Given the description of an element on the screen output the (x, y) to click on. 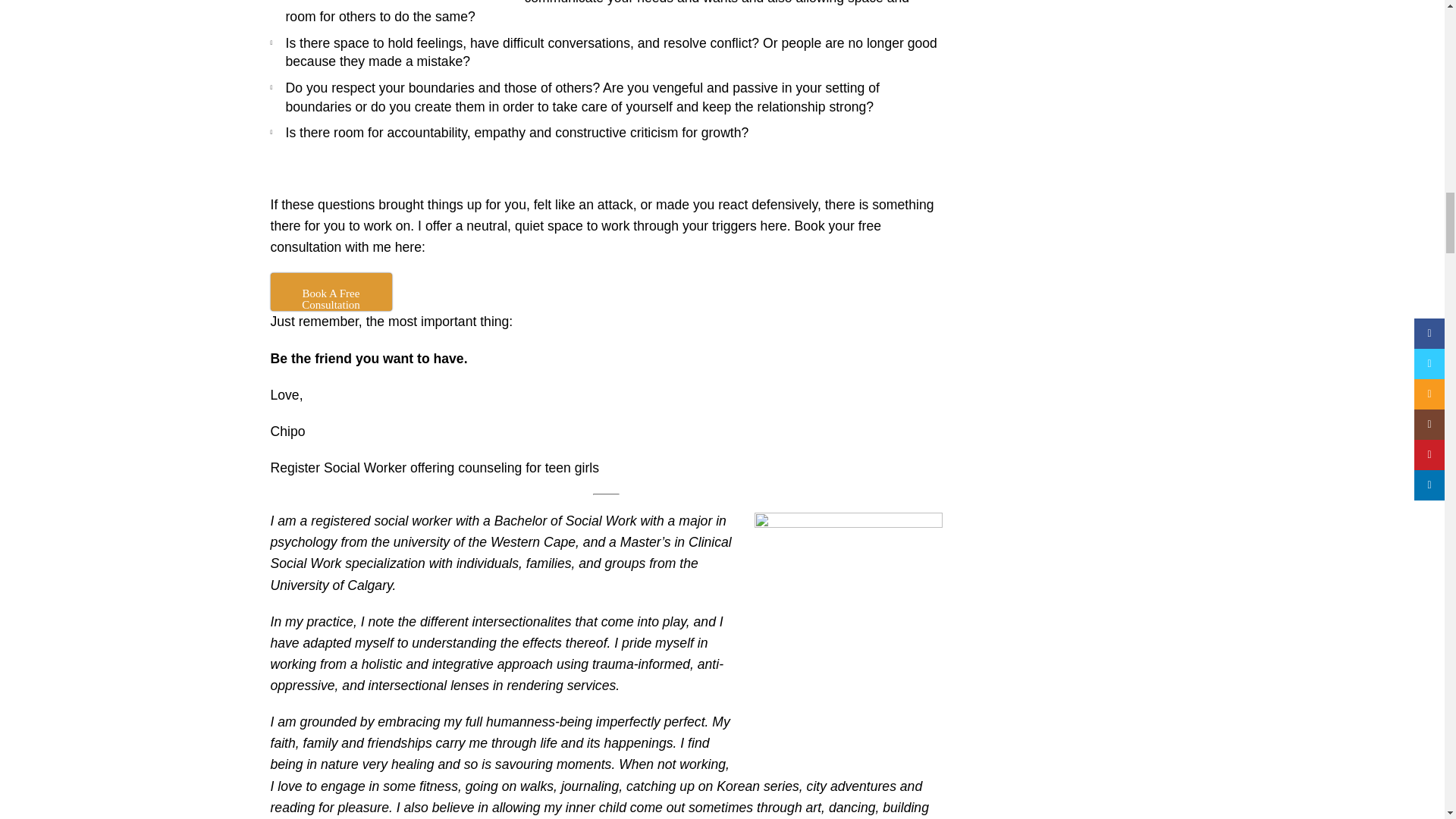
Book A Free Consultation (330, 291)
